Given the description of an element on the screen output the (x, y) to click on. 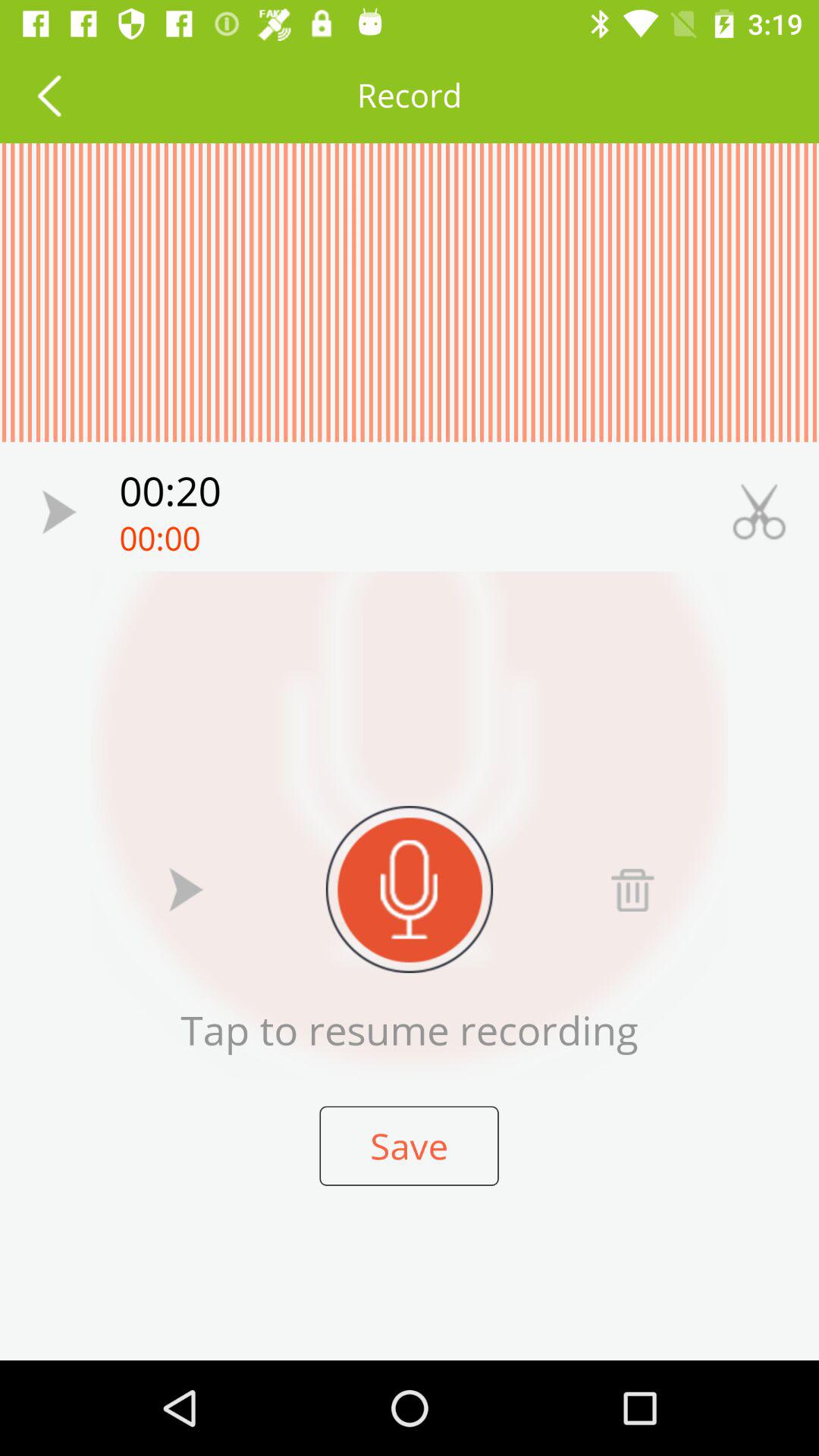
tap the save item (408, 1145)
